Given the description of an element on the screen output the (x, y) to click on. 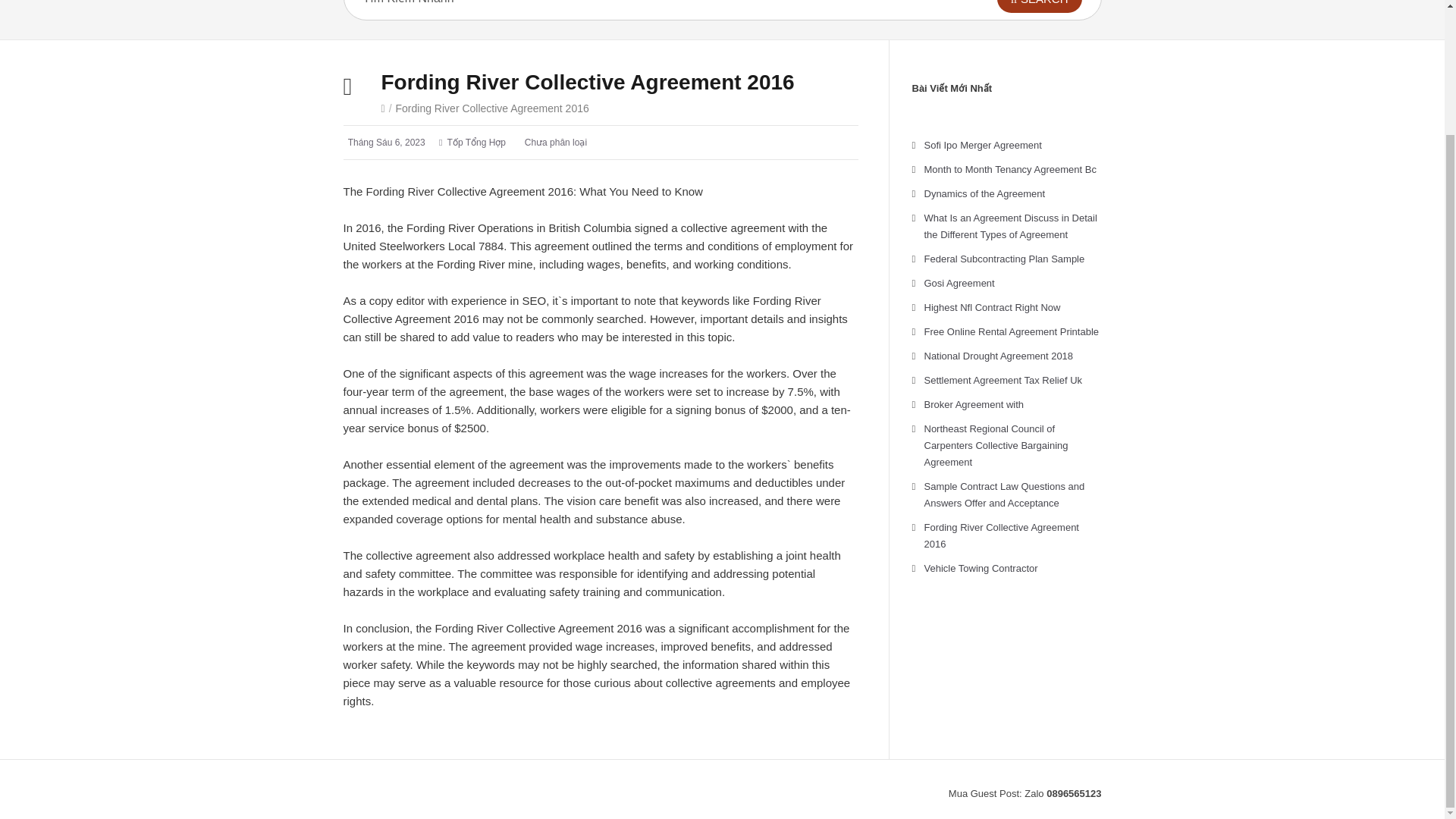
SEARCH (1039, 6)
Broker Agreement with (973, 404)
National Drought Agreement 2018 (998, 355)
Sofi Ipo Merger Agreement (982, 144)
Month to Month Tenancy Agreement Bc (1009, 169)
Settlement Agreement Tax Relief Uk (1002, 379)
Federal Subcontracting Plan Sample (1003, 258)
ae888 (929, 792)
Dynamics of the Agreement (984, 193)
Gosi Agreement (958, 283)
Fording River Collective Agreement 2016 (1000, 535)
Free Online Rental Agreement Printable (1011, 331)
